Given the description of an element on the screen output the (x, y) to click on. 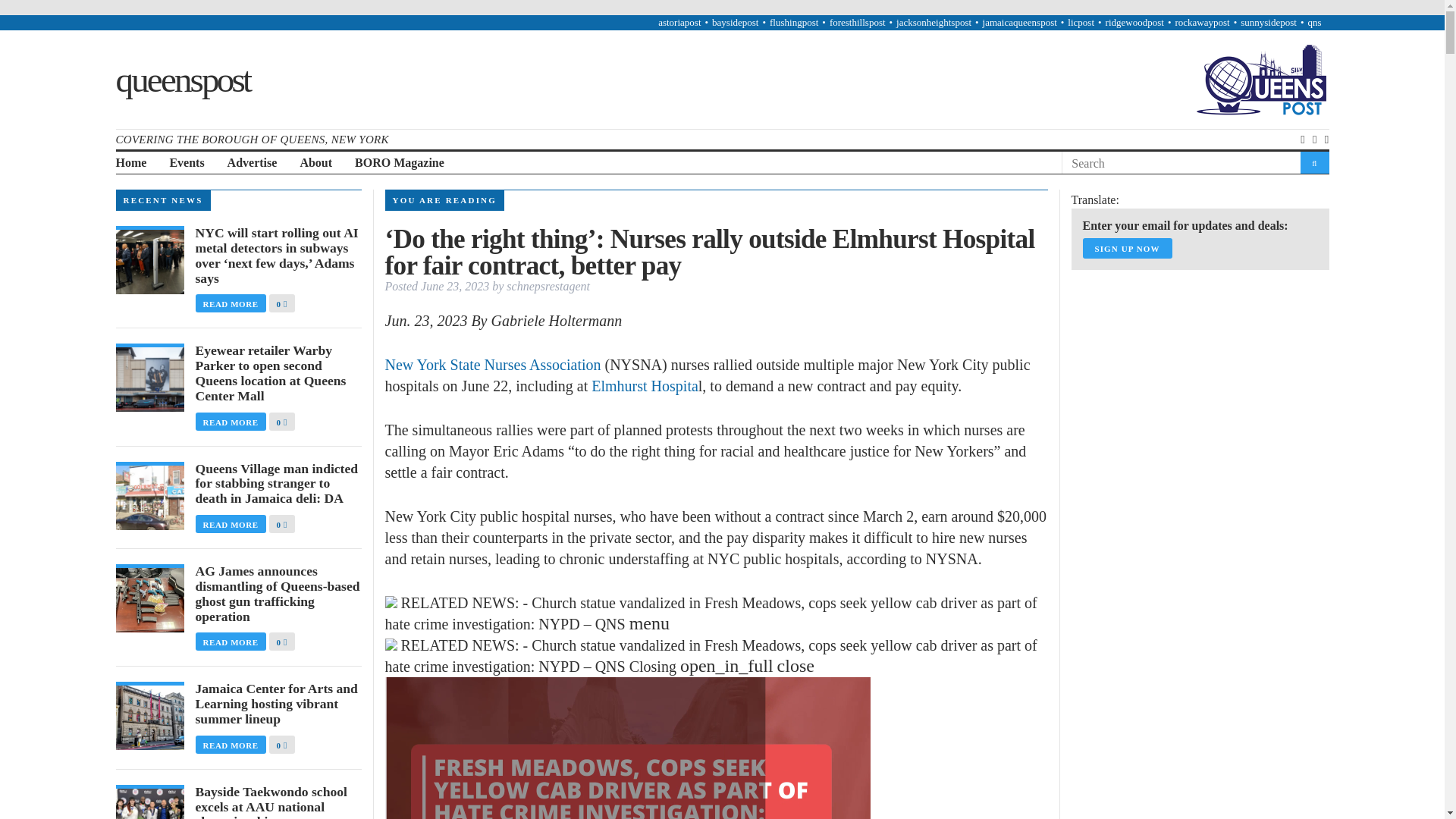
About (315, 163)
Elmhurst Hospita (644, 385)
New York State Nurses Association (493, 364)
3rd party ad content (1184, 752)
Events (185, 163)
Advertise (252, 163)
3rd party ad content (1184, 578)
READ MORE (232, 302)
BORO Magazine (399, 163)
qns (1313, 21)
flushingpost (794, 21)
queenspost (181, 78)
jacksonheightspost (933, 21)
jamaicaqueenspost (1019, 21)
sunnysidepost (1268, 21)
